Given the description of an element on the screen output the (x, y) to click on. 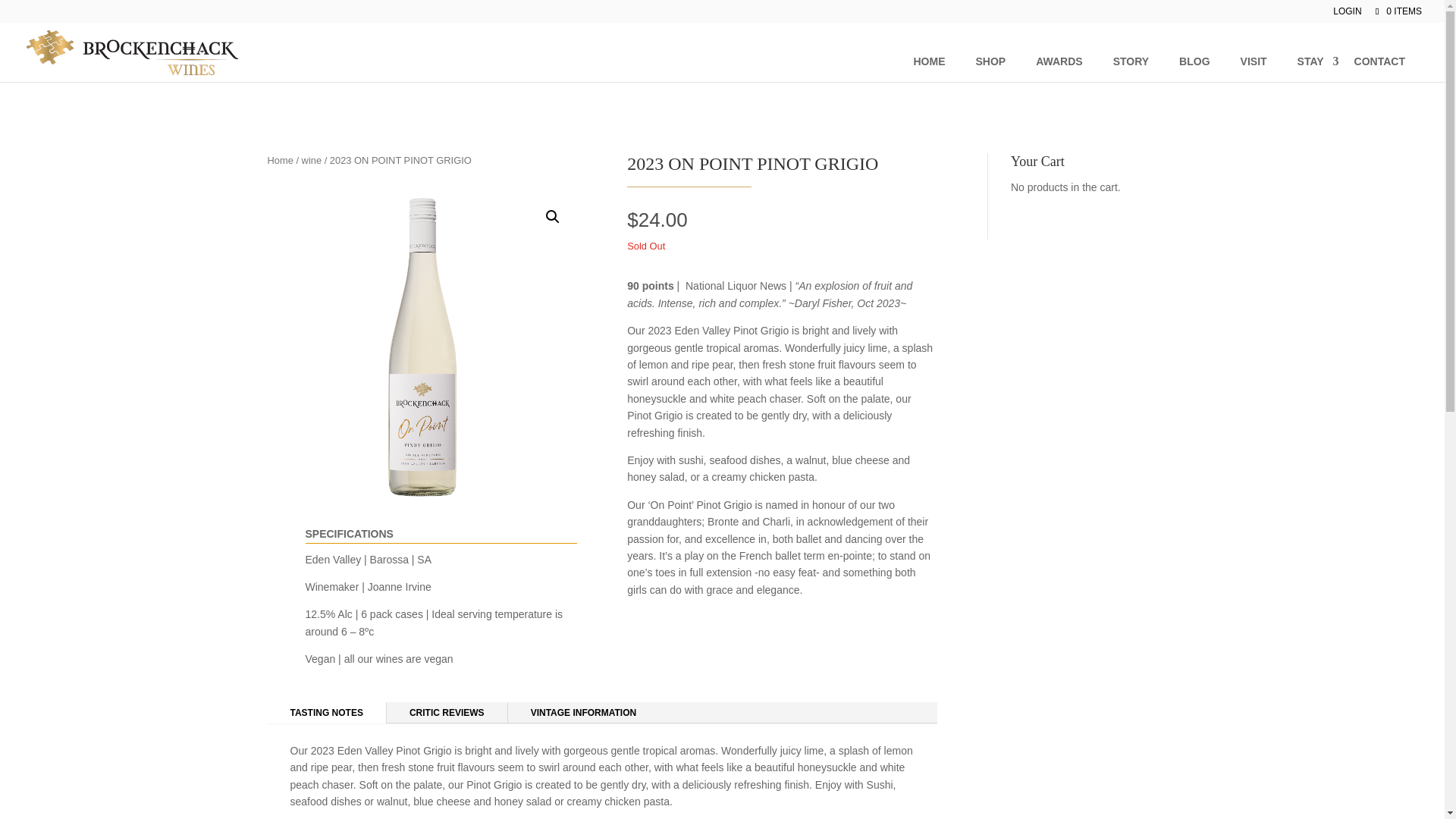
wine (311, 160)
TASTING NOTES (325, 712)
CONTACT (1380, 61)
SHOP (989, 61)
AWARDS (1058, 61)
CRITIC REVIEWS (446, 712)
VISIT (1253, 61)
OP Pinot Grigio new bottle (421, 347)
LOGIN (1347, 14)
VINTAGE INFORMATION (583, 712)
